Given the description of an element on the screen output the (x, y) to click on. 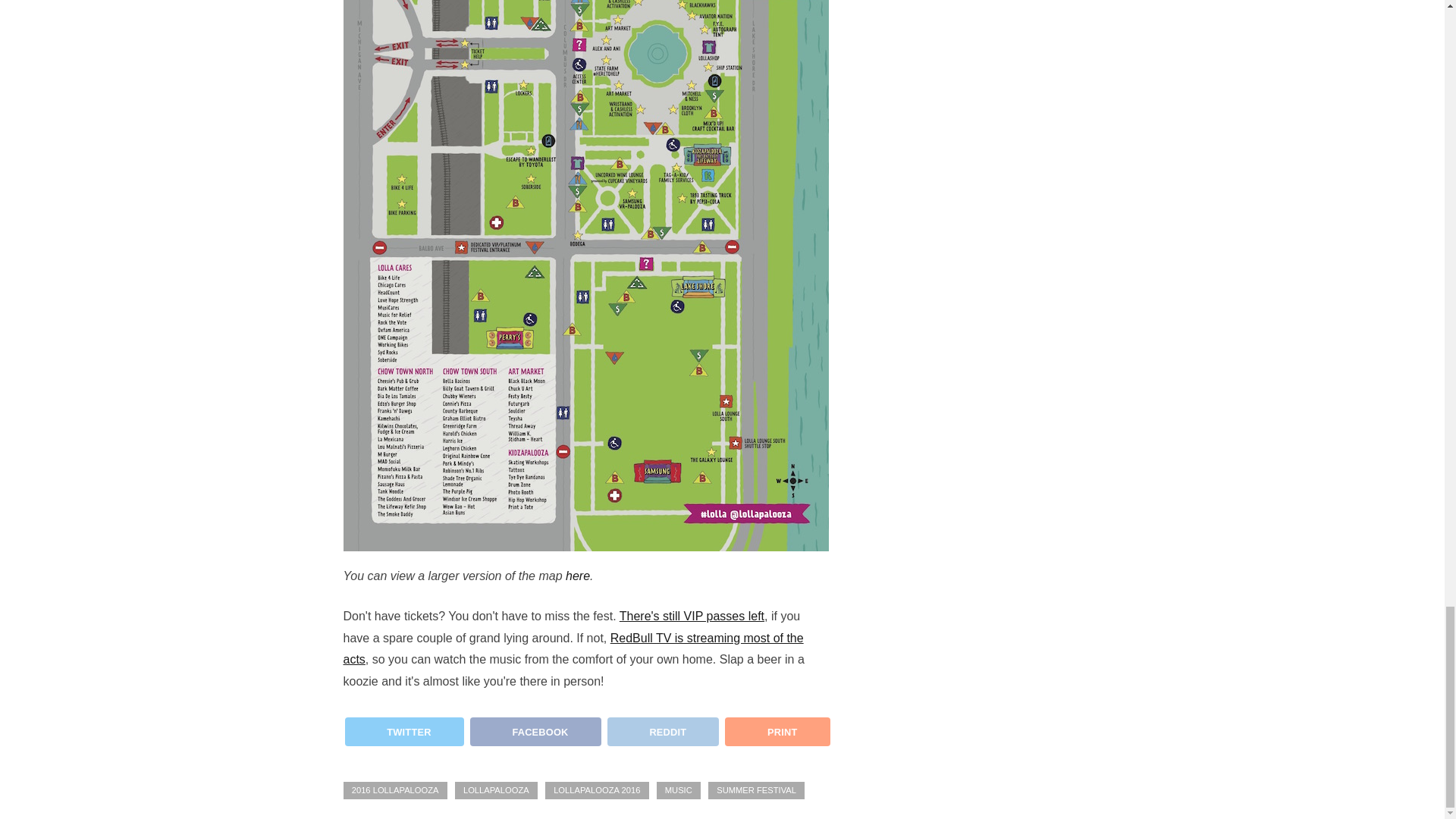
RedBull TV is streaming most of the acts (572, 648)
TWITTER (403, 731)
LOLLAPALOOZA (495, 790)
here (577, 575)
TWITTER (401, 737)
2016 LOLLAPALOOZA (394, 790)
REDDIT (661, 737)
LOLLAPALOOZA 2016 (596, 790)
MUSIC (678, 790)
PRINT (777, 731)
